Given the description of an element on the screen output the (x, y) to click on. 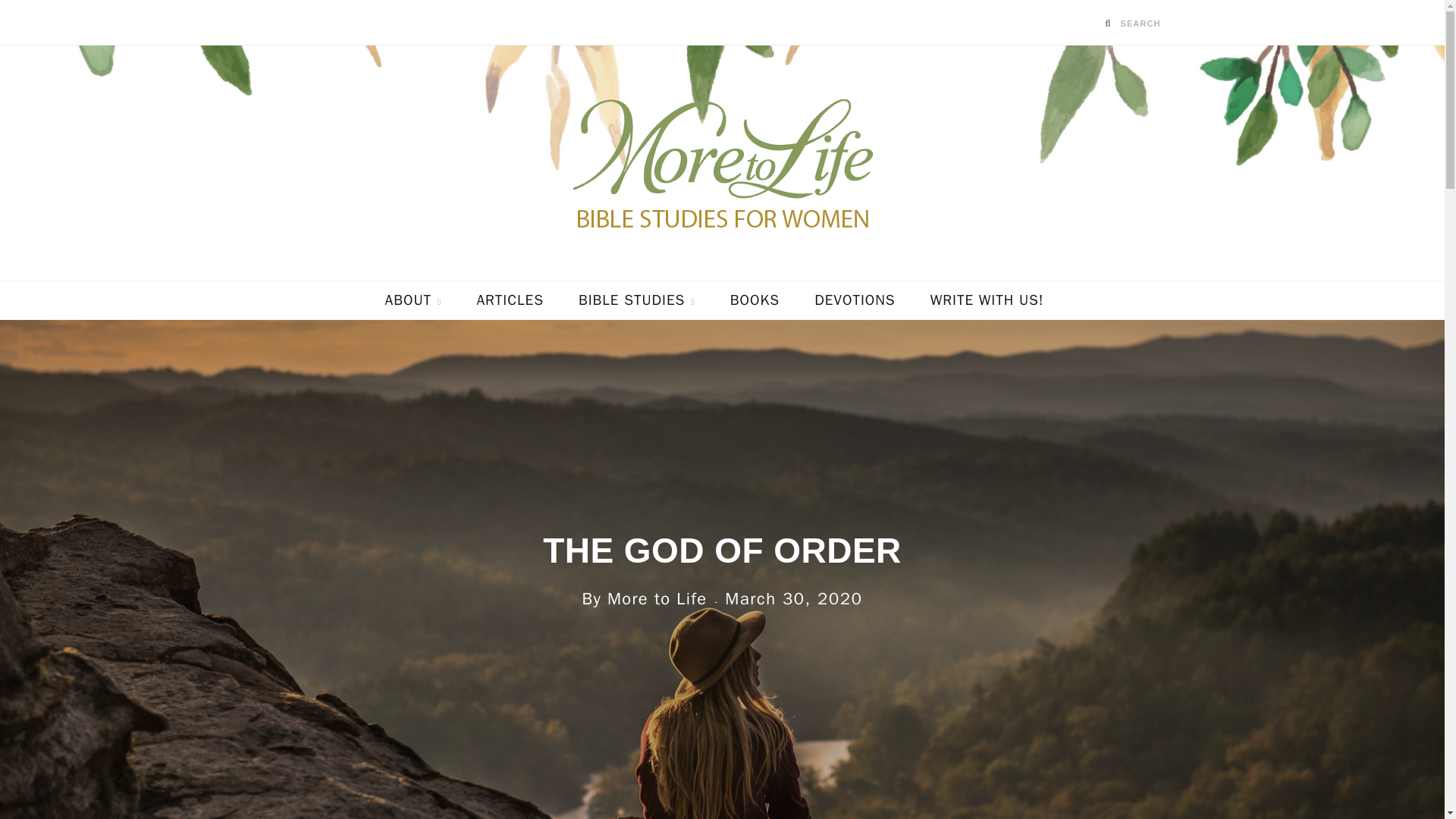
BOOKS (754, 300)
March 30, 2020 (793, 598)
More to Life (656, 598)
ABOUT (413, 300)
Posts by More to Life (656, 598)
DEVOTIONS (854, 300)
More To Life (721, 162)
BIBLE STUDIES (636, 300)
ARTICLES (509, 300)
WRITE WITH US! (986, 300)
